Given the description of an element on the screen output the (x, y) to click on. 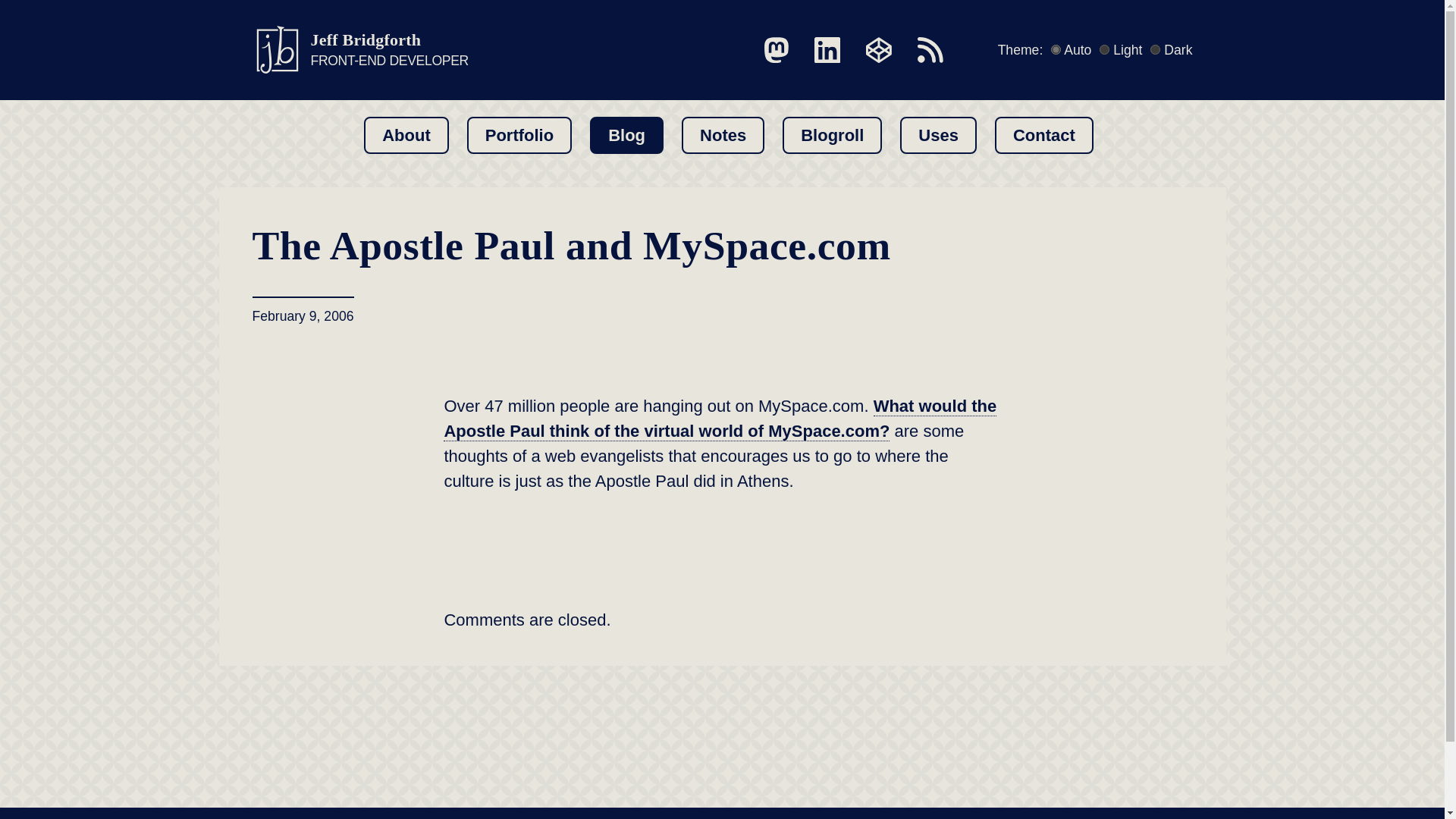
dark (1155, 49)
Feed (929, 49)
Codepen (878, 49)
Blogroll (359, 50)
Mastodon (832, 135)
Portfolio (776, 49)
light (519, 135)
Notes (1104, 49)
